Given the description of an element on the screen output the (x, y) to click on. 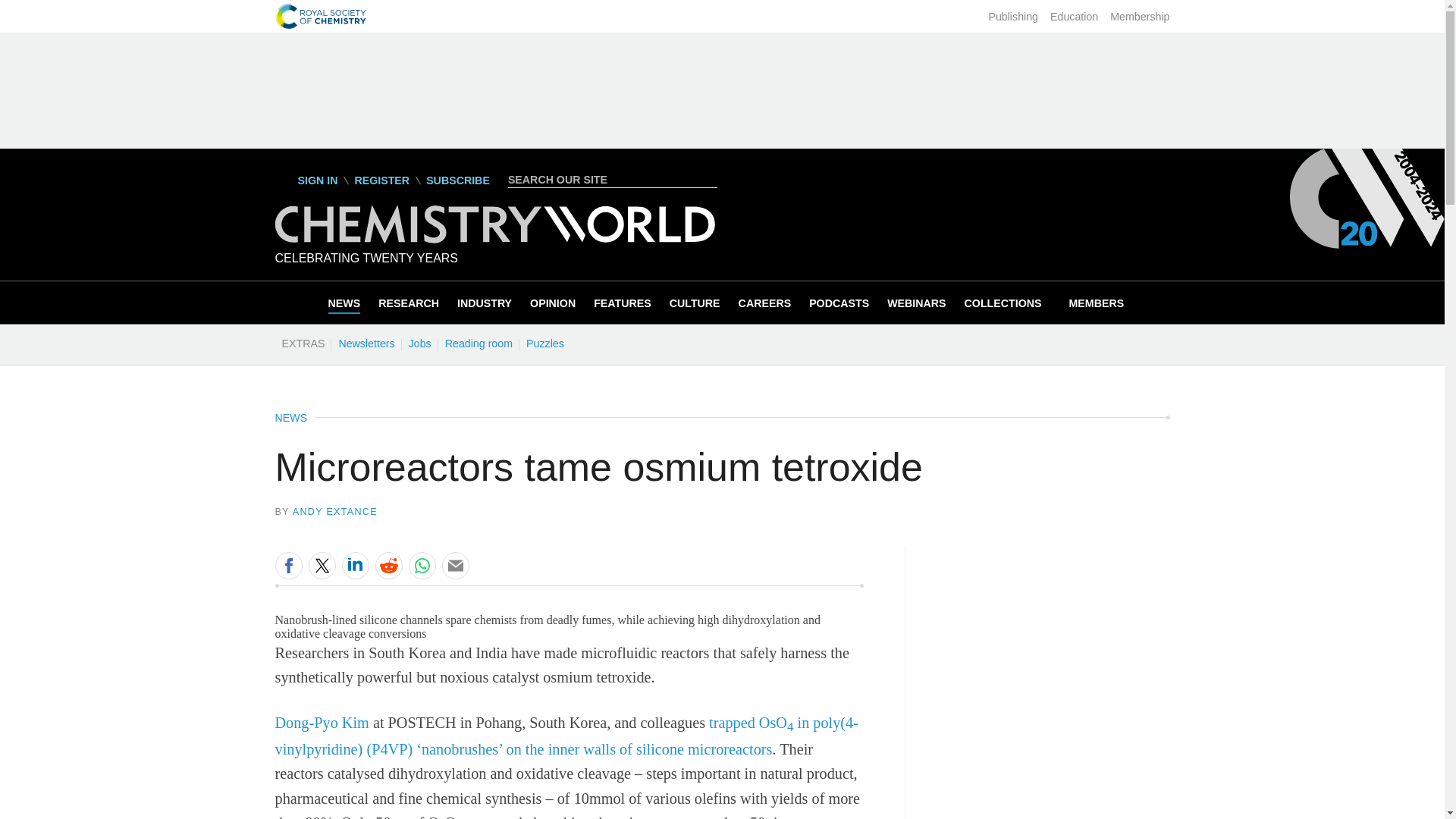
Reading room (478, 343)
Share this on Facebook (288, 565)
SIGN IN (306, 180)
Chemistry World (494, 238)
Publishing (1013, 16)
Jobs (419, 343)
Newsletters (366, 343)
Share this on WhatsApp (421, 565)
Puzzles (544, 343)
SUBSCRIBE (457, 180)
SEARCH (708, 179)
Education (1073, 16)
Share this on LinkedIn (354, 565)
Share this on Reddit (387, 565)
REGISTER (381, 180)
